Given the description of an element on the screen output the (x, y) to click on. 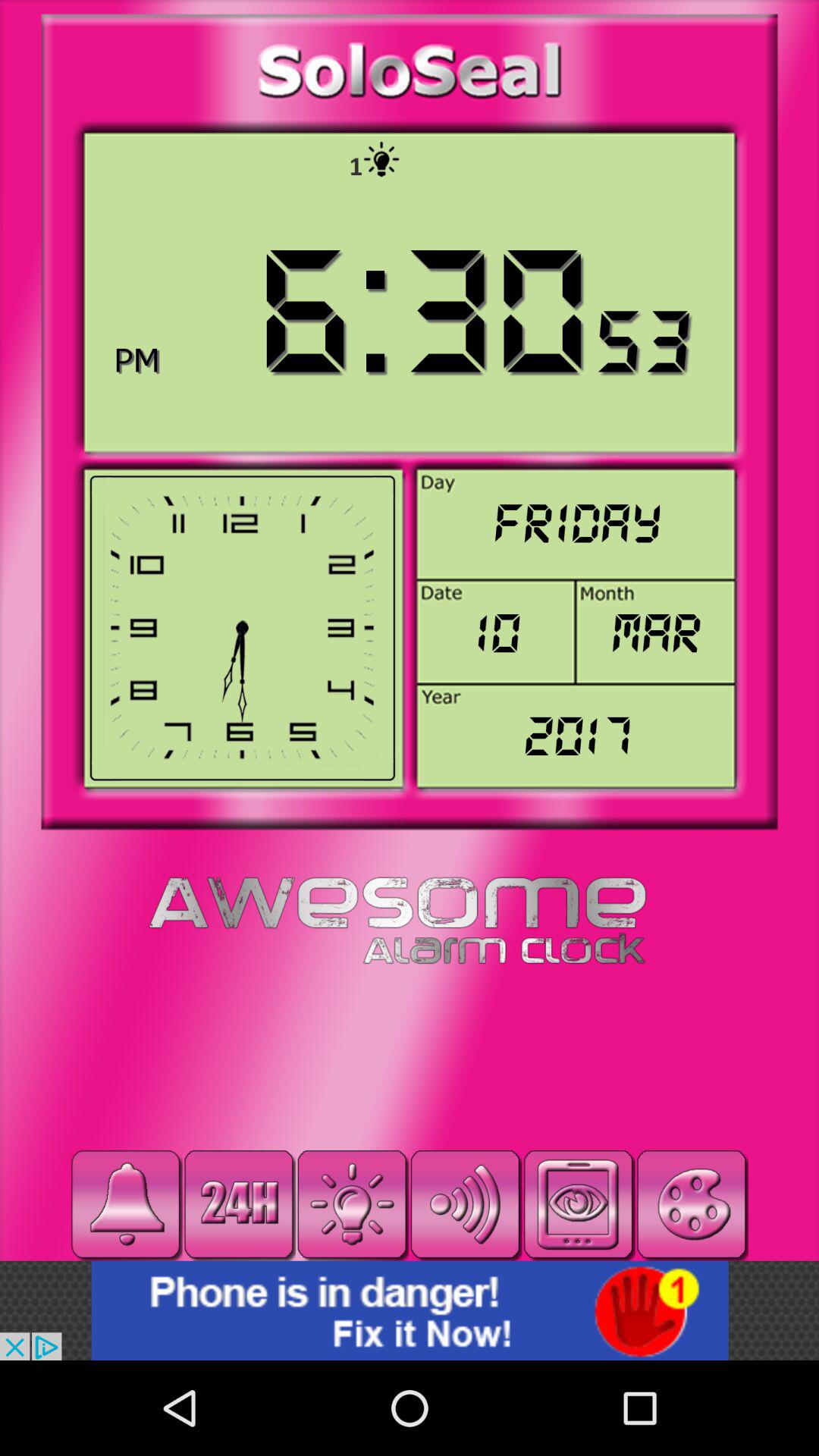
go to adjust volume (465, 1203)
